Given the description of an element on the screen output the (x, y) to click on. 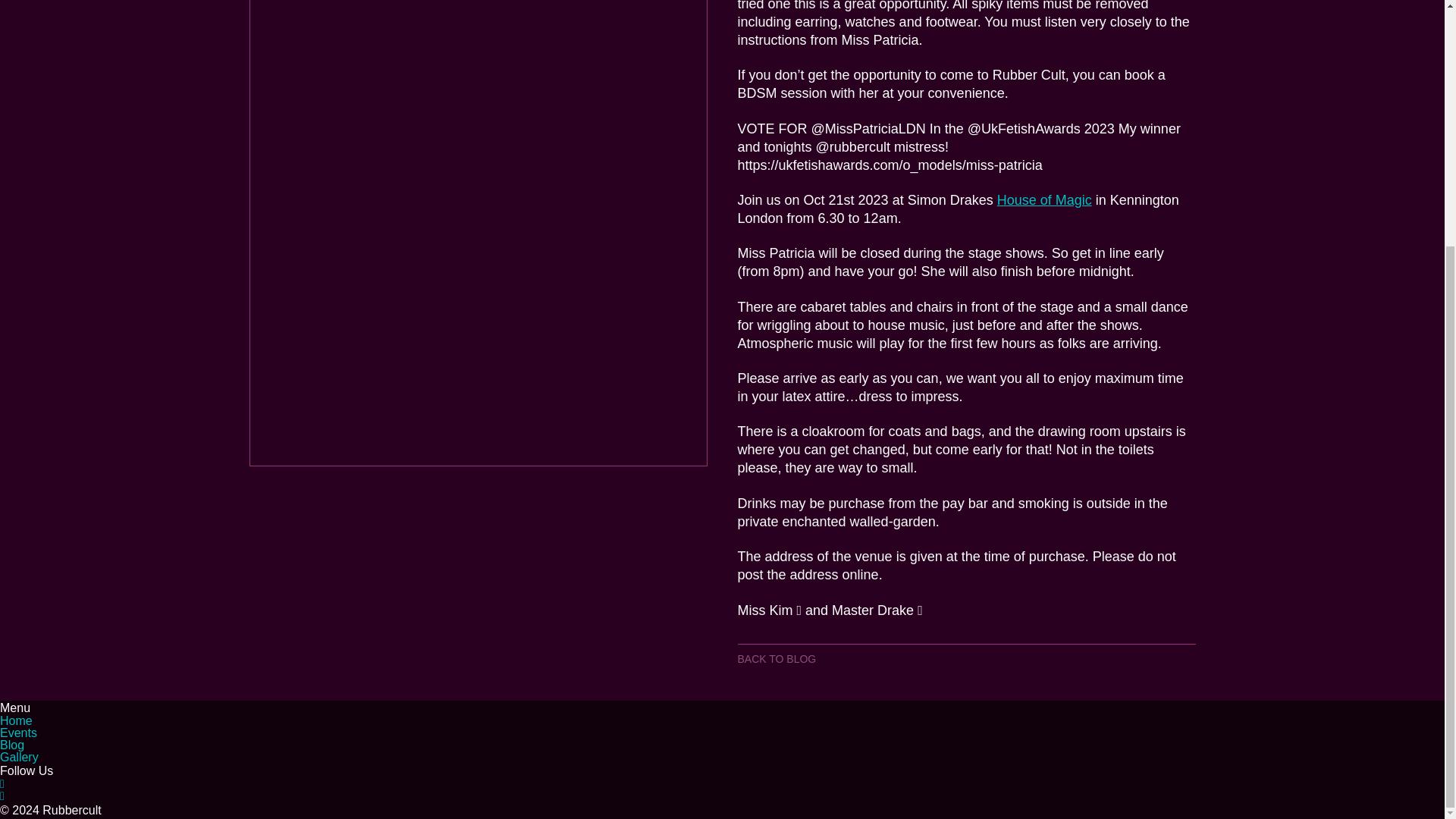
Events (18, 732)
Home (16, 720)
BACK TO BLOG (775, 658)
Gallery (19, 757)
House of Magic (1044, 200)
Blog (12, 744)
